Given the description of an element on the screen output the (x, y) to click on. 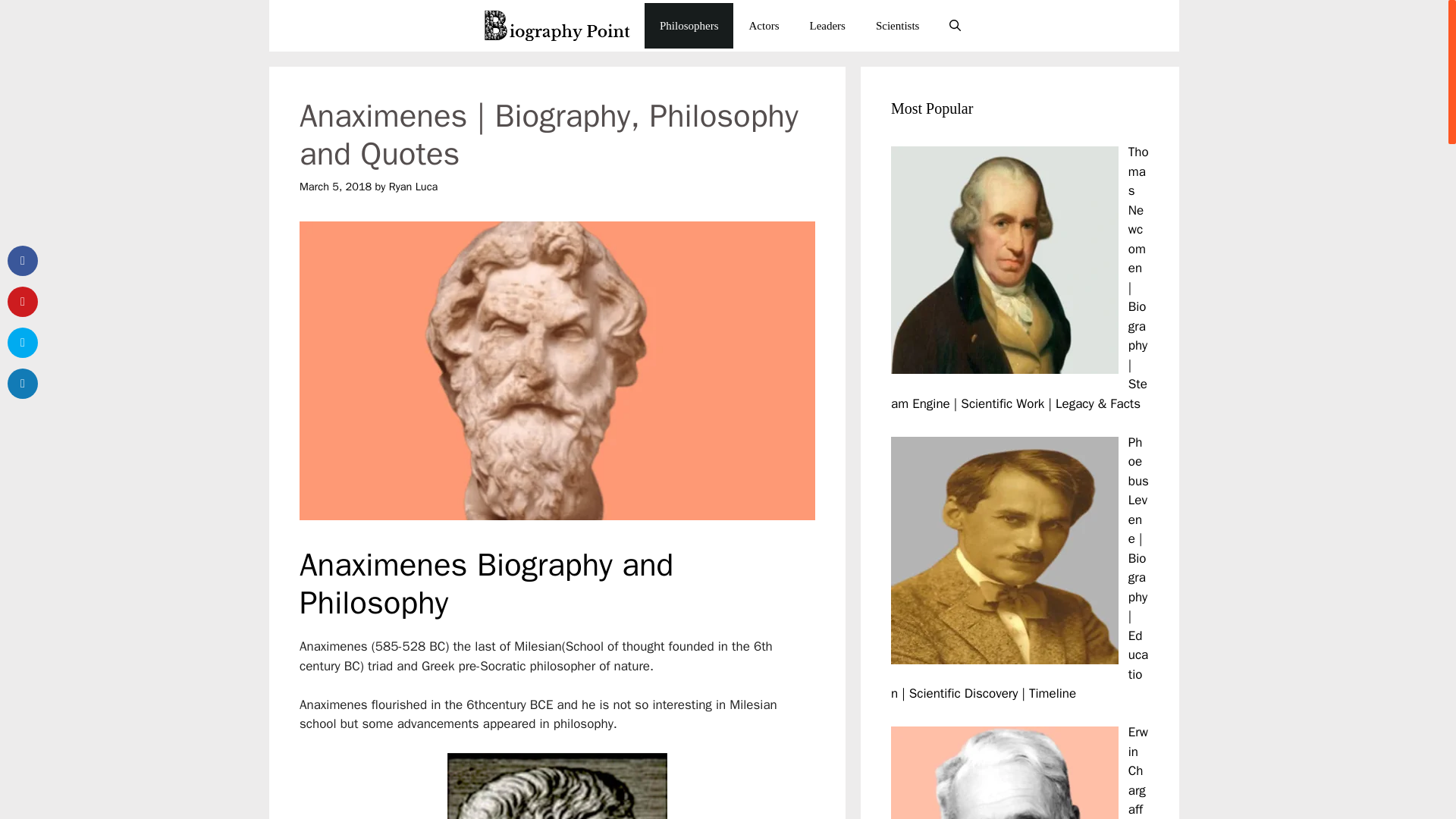
Philosophers (689, 25)
Actors (763, 25)
Scientists (897, 25)
Leaders (826, 25)
Biographypoint (558, 25)
